Given the description of an element on the screen output the (x, y) to click on. 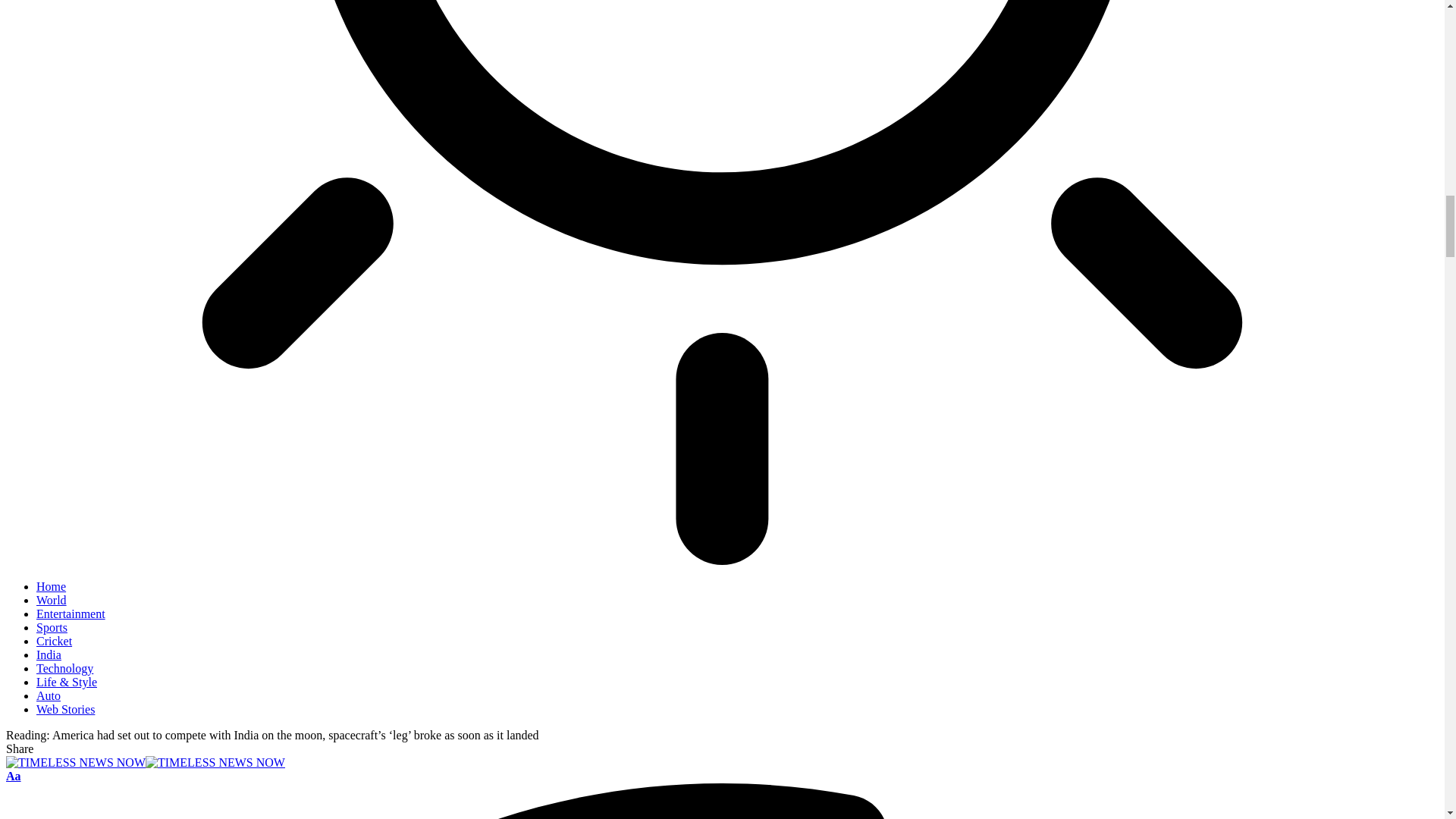
Technology (64, 667)
World (51, 599)
Auto (48, 695)
Cricket (53, 640)
Entertainment (70, 613)
TIMELESS NEWS NOW (145, 762)
India (48, 654)
Sports (51, 626)
Aa (13, 775)
Home (50, 585)
Web Stories (65, 708)
